Given the description of an element on the screen output the (x, y) to click on. 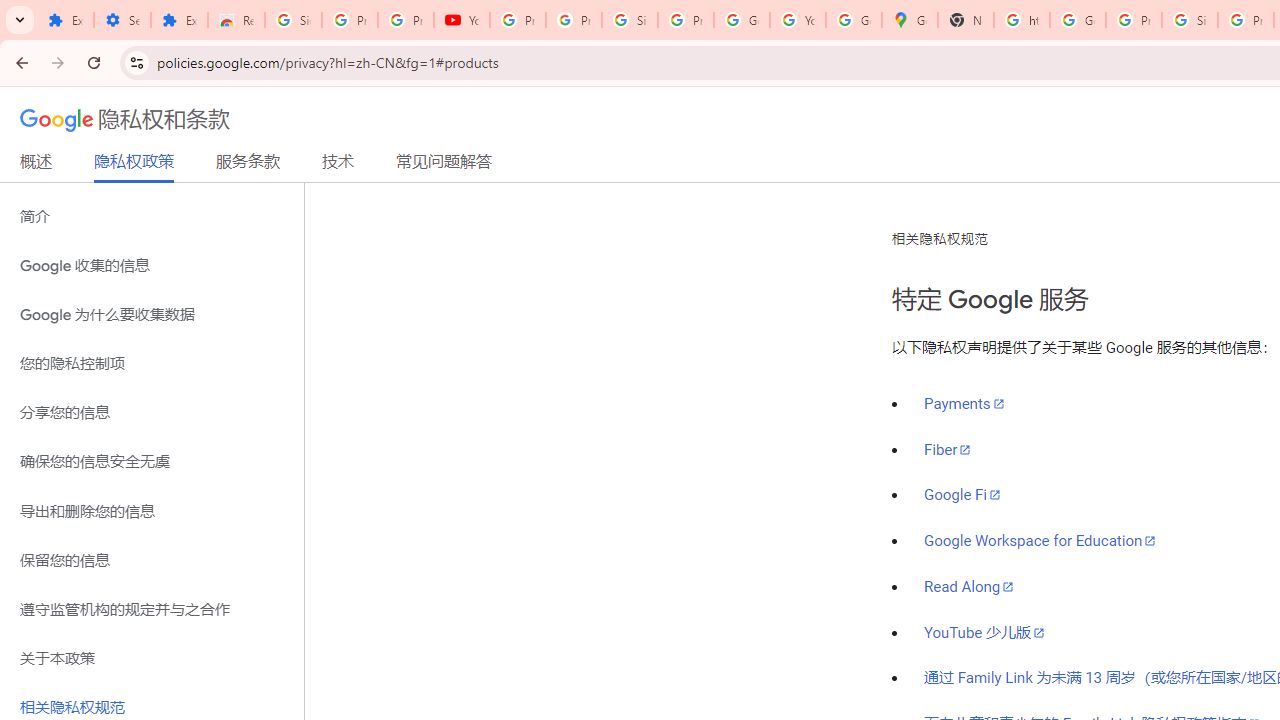
YouTube (461, 20)
Sign in - Google Accounts (629, 20)
